Given the description of an element on the screen output the (x, y) to click on. 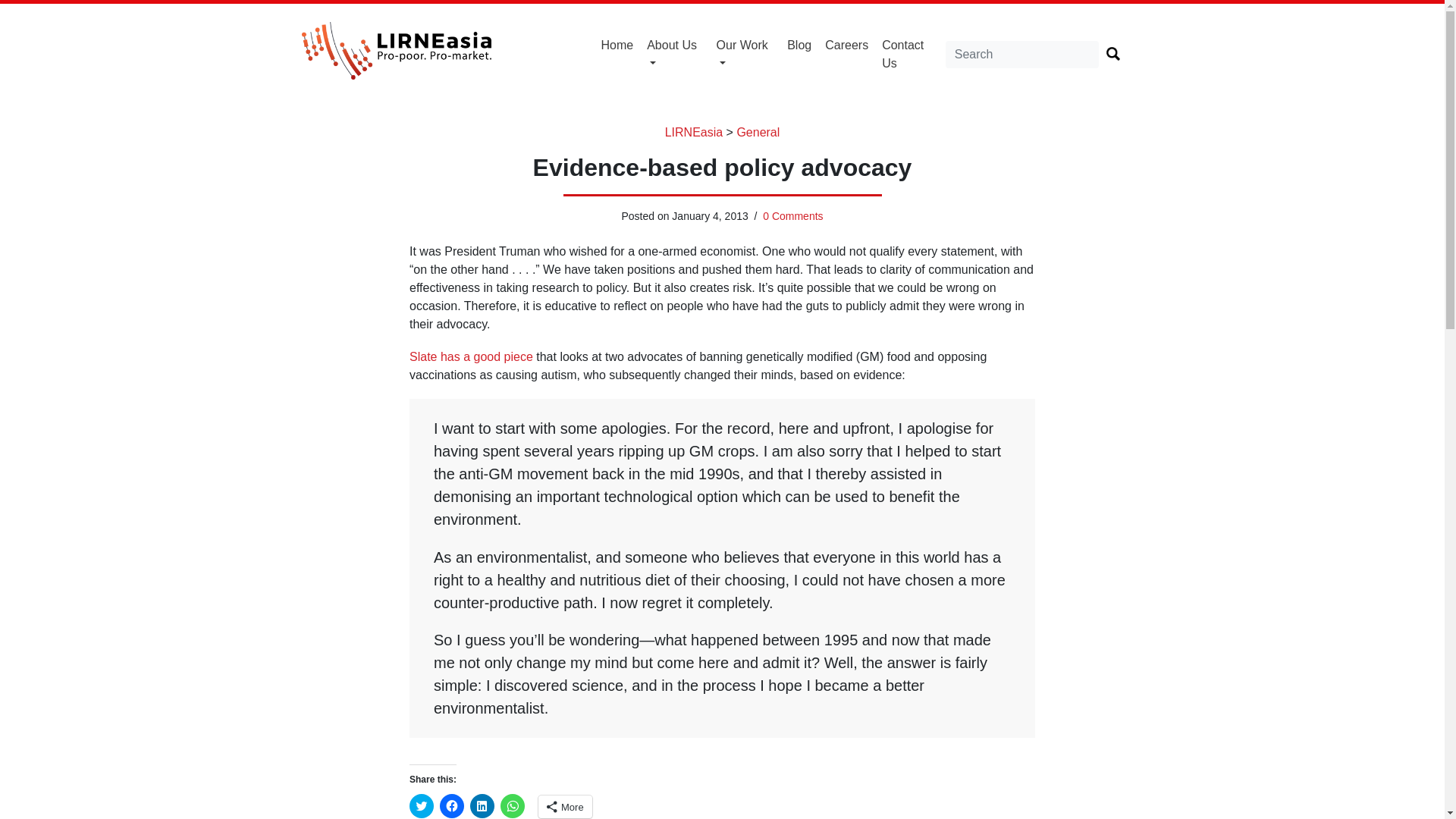
Contact us (909, 54)
Blog (799, 45)
About us (674, 54)
Search for: (1021, 53)
Contact Us (909, 54)
About Us (674, 54)
Blog (799, 45)
Our Work (745, 54)
0 Comments (792, 215)
Careers (846, 45)
Careers (846, 45)
LIRNEasia (693, 132)
Our Work (745, 54)
General (757, 132)
Home (617, 45)
